Given the description of an element on the screen output the (x, y) to click on. 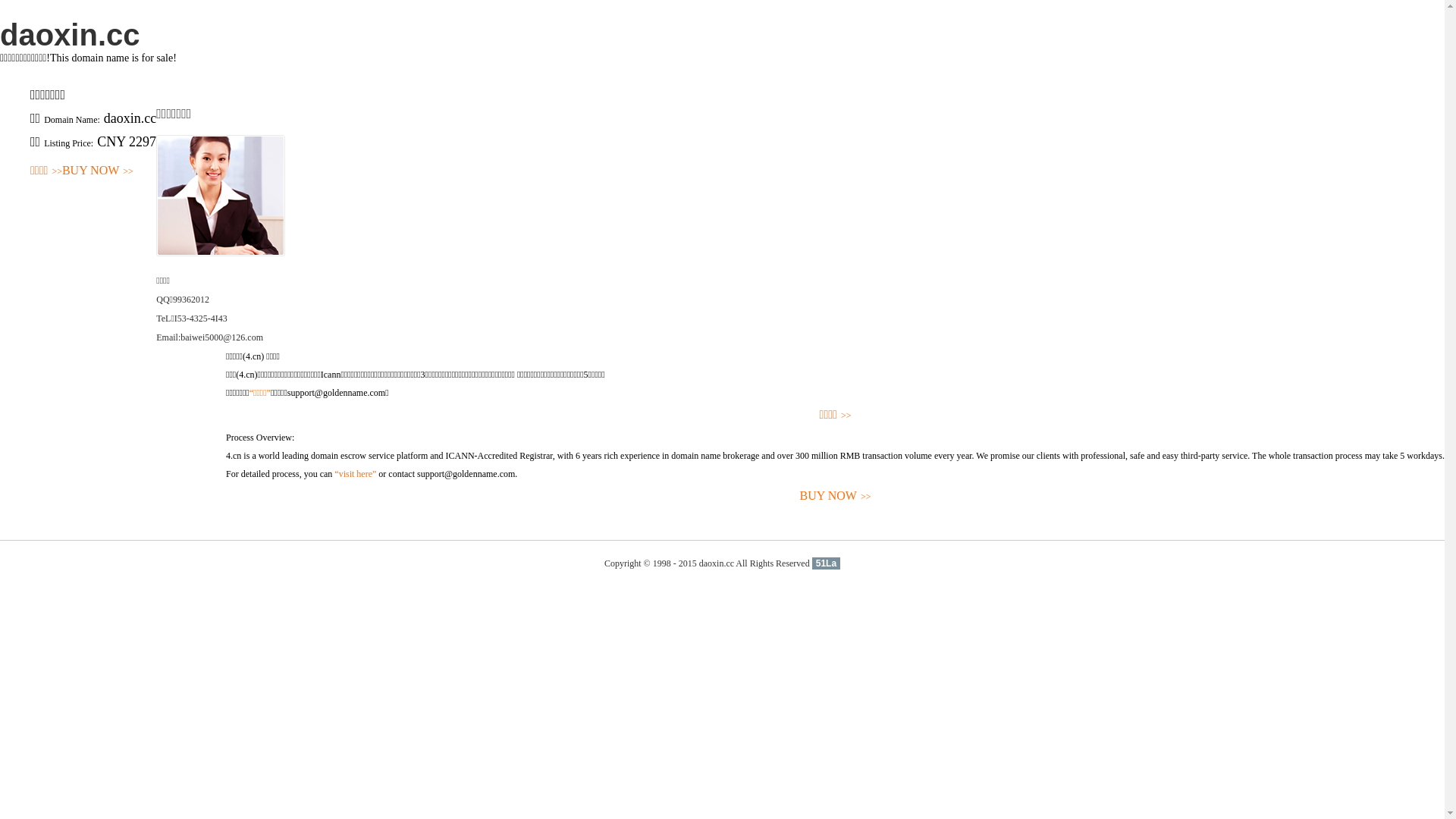
51La Element type: text (826, 563)
BUY NOW>> Element type: text (97, 170)
BUY NOW>> Element type: text (834, 496)
